Given the description of an element on the screen output the (x, y) to click on. 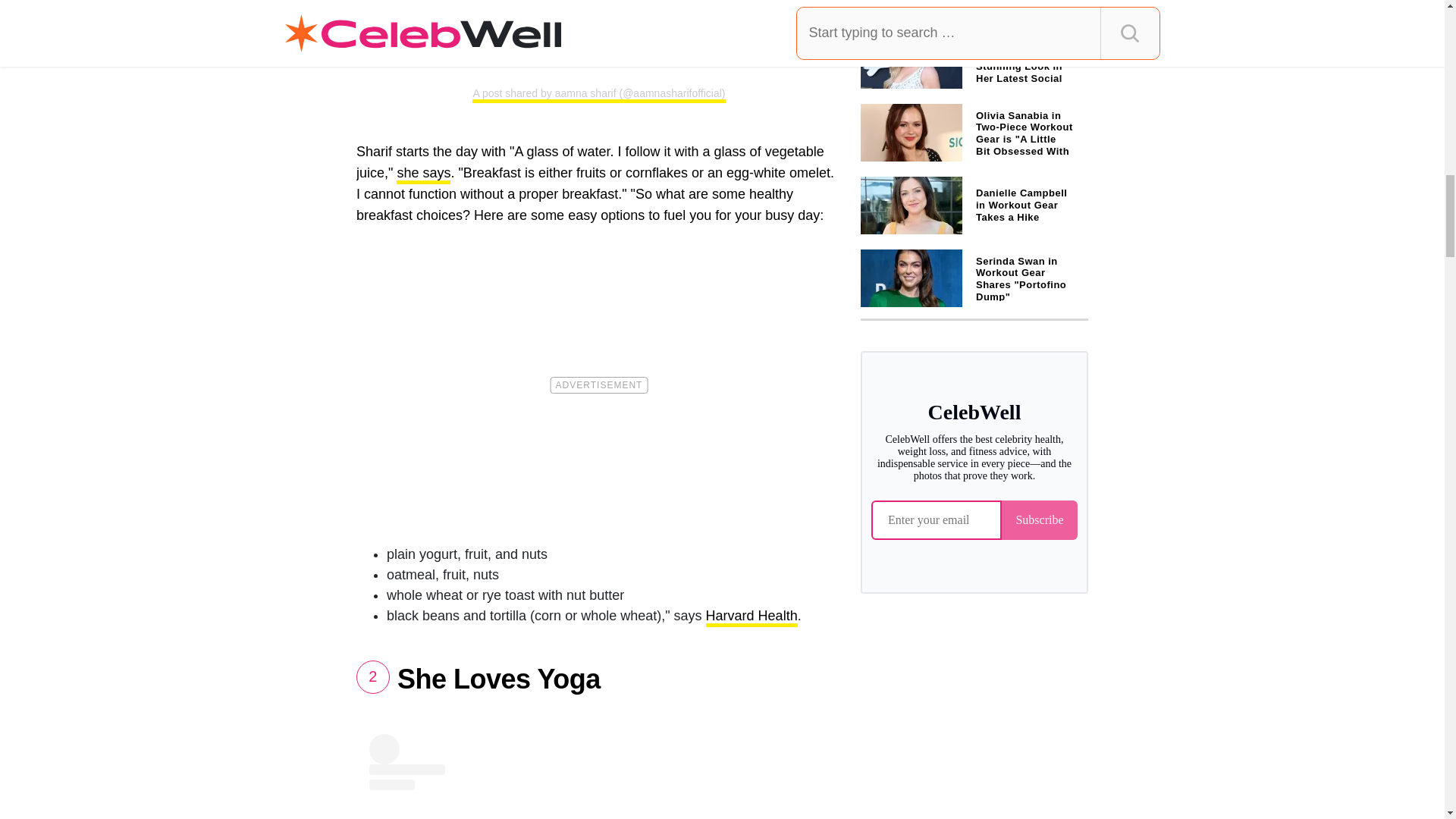
she says (422, 174)
View this post on Instagram (598, 31)
Harvard Health (751, 617)
View this post on Instagram (598, 776)
